Given the description of an element on the screen output the (x, y) to click on. 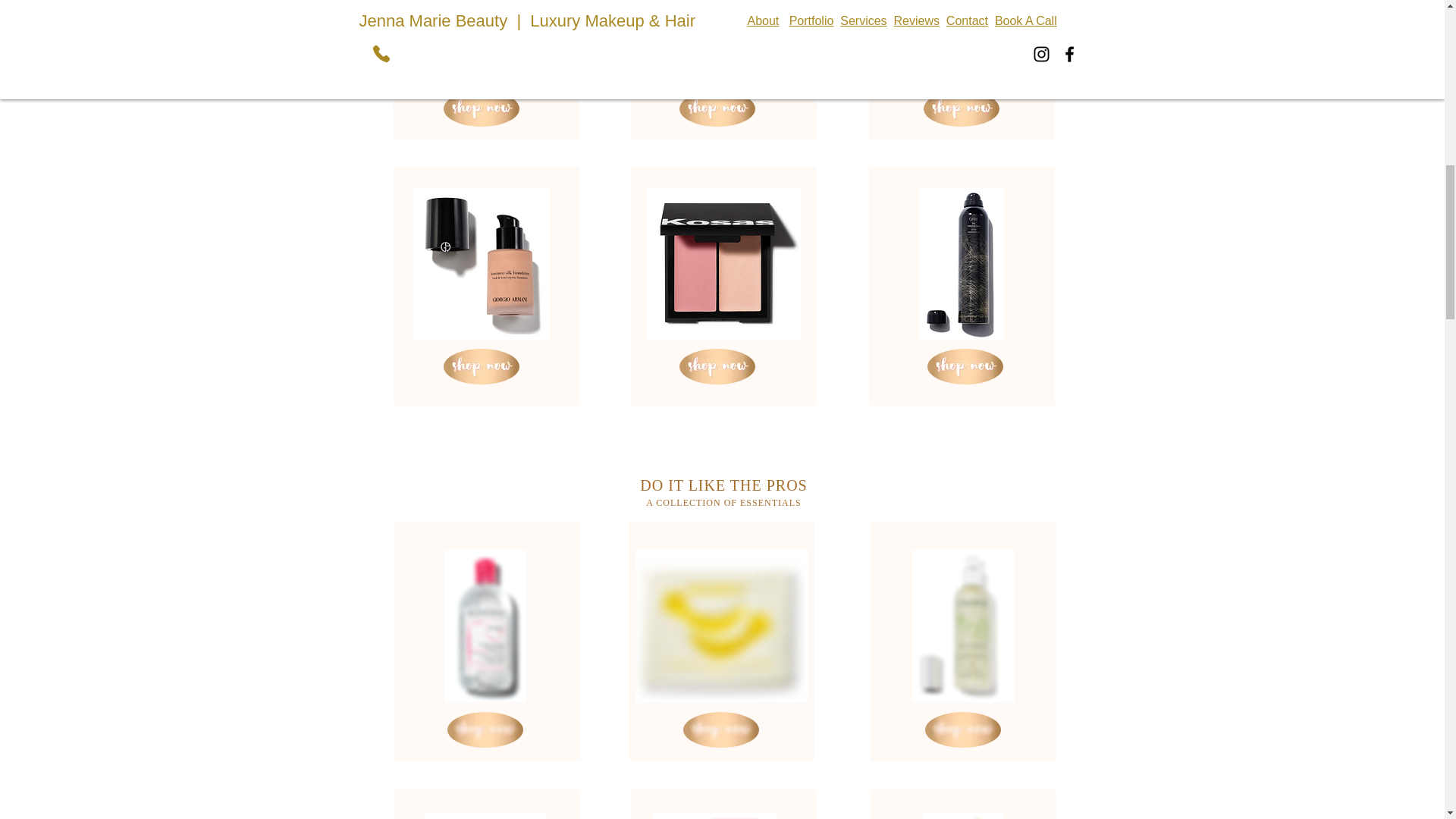
Screen Shot 2020-12-04 at 2.27.57 PM.png (716, 40)
Screen Shot 2020-12-04 at 2.51.58 PM.png (480, 263)
Screen Shot 2020-12-05 at 11.26.55 AM.pn (714, 815)
Screen Shot 2020-12-05 at 11.21.41 AM.pn (485, 815)
Screen Shot 2020-12-07 at 3.16.29 PM.png (721, 625)
Screen Shot 2020-12-04 at 2.58.37 PM.png (722, 263)
Screen Shot 2020-12-04 at 2.18.13 PM.png (960, 40)
